Given the description of an element on the screen output the (x, y) to click on. 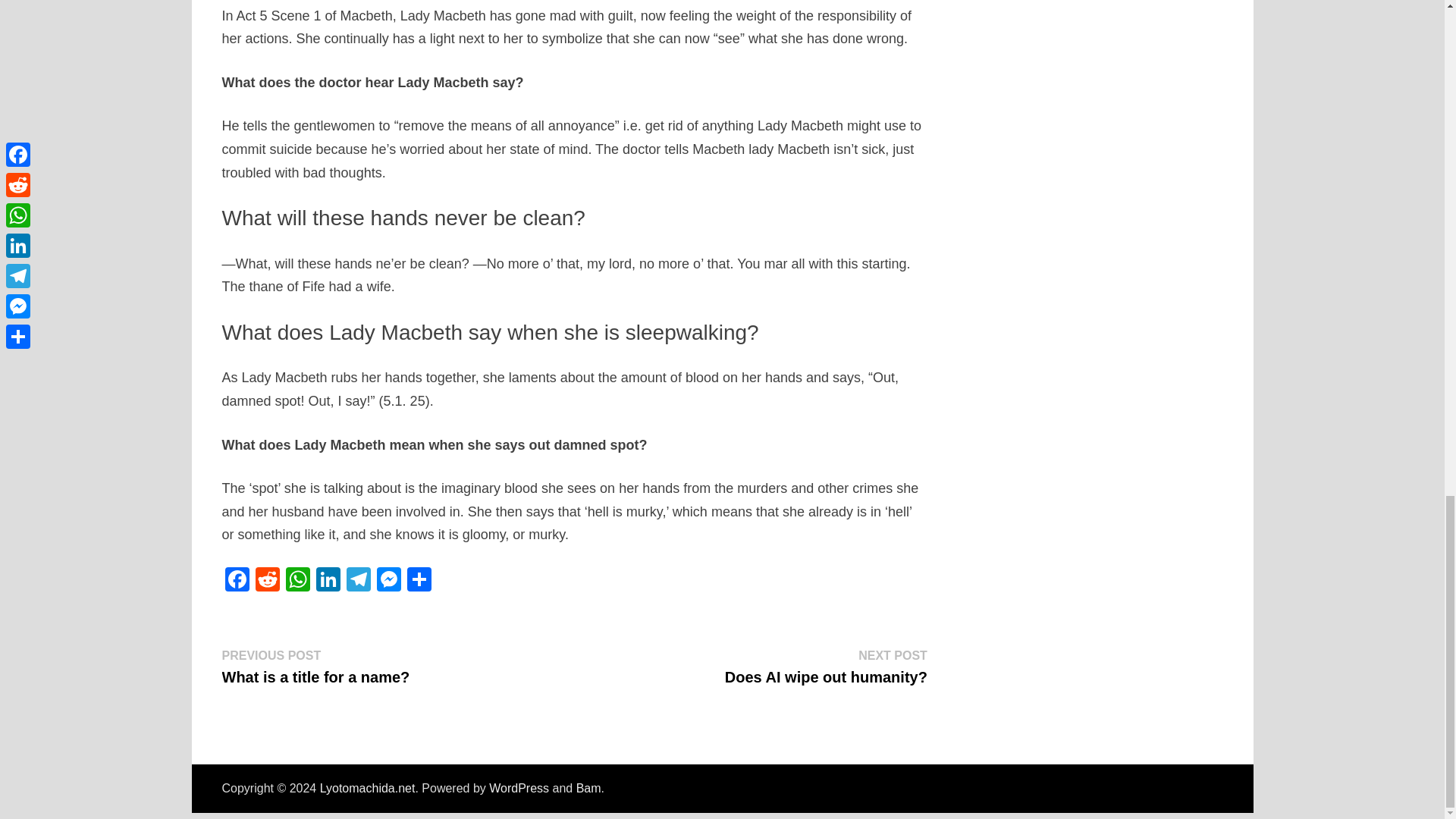
Facebook (236, 581)
Telegram (357, 581)
Reddit (266, 581)
WhatsApp (297, 581)
Messenger (387, 581)
Share (418, 581)
Lyotomachida.net (367, 788)
Telegram (357, 581)
LinkedIn (826, 666)
WhatsApp (327, 581)
Reddit (297, 581)
LinkedIn (266, 581)
Messenger (327, 581)
